Given the description of an element on the screen output the (x, y) to click on. 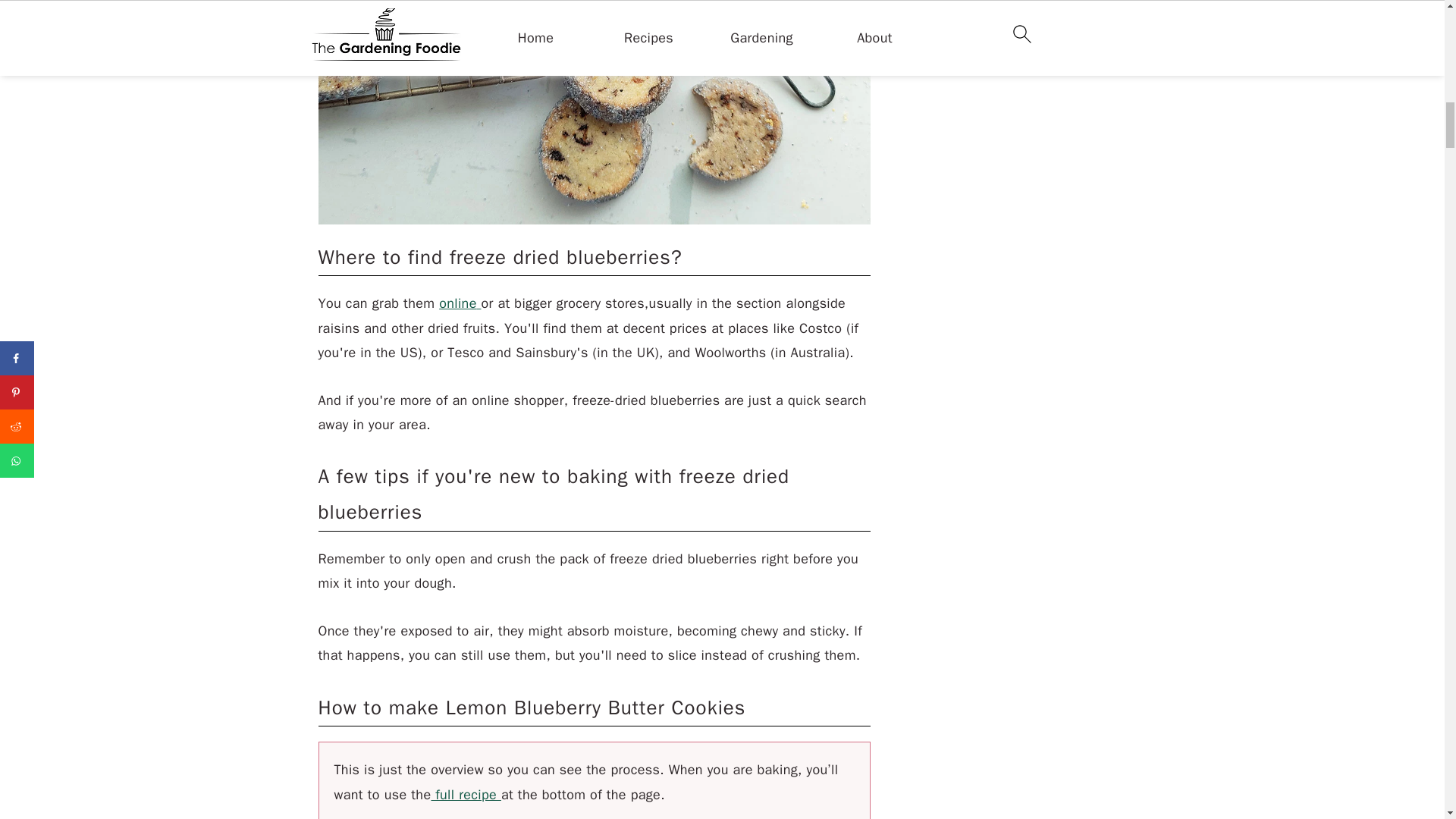
online (458, 303)
 full recipe  (465, 794)
